Given the description of an element on the screen output the (x, y) to click on. 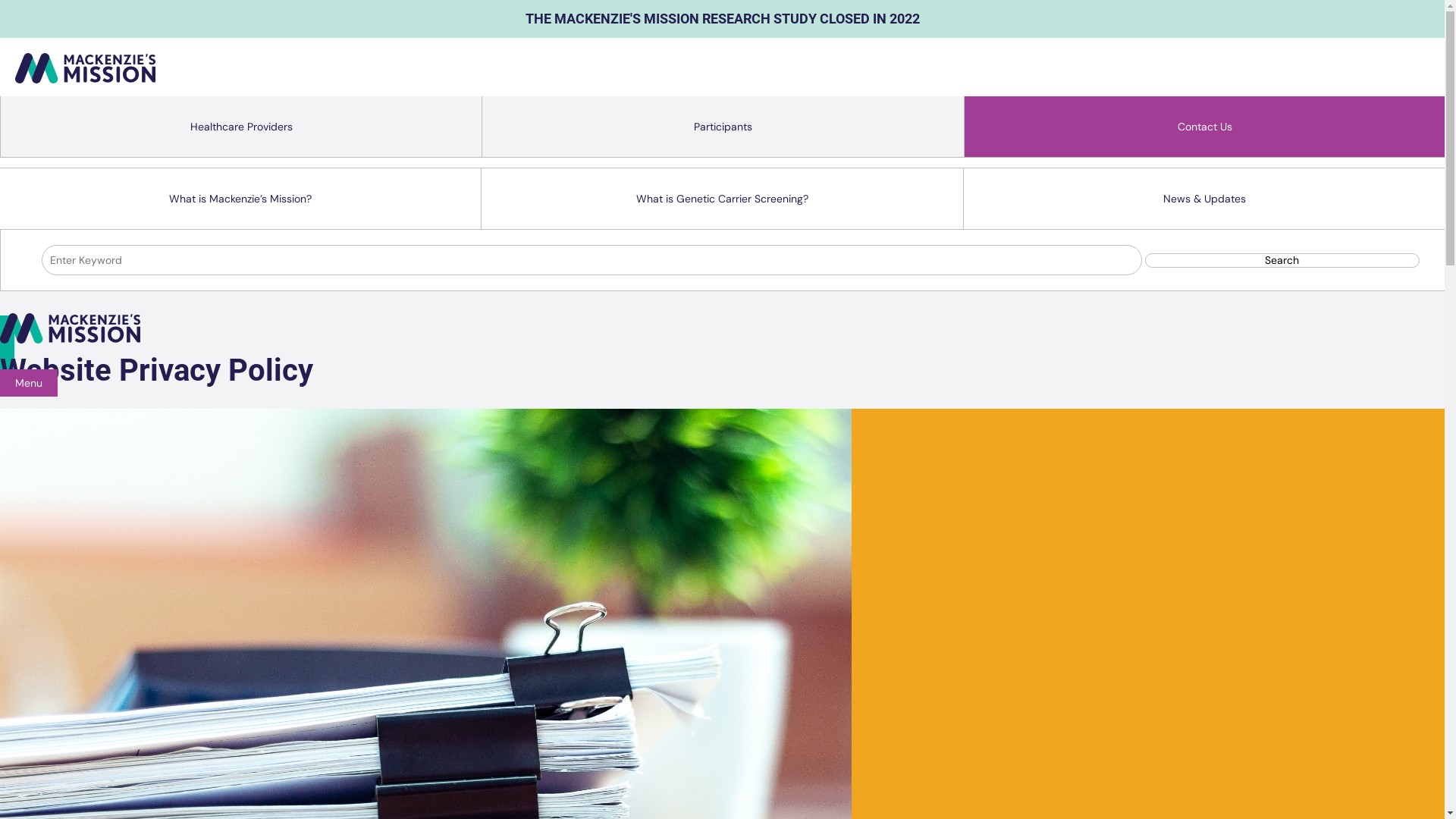
Search Element type: text (1282, 259)
News & Updates Element type: text (1204, 198)
Contact Us Element type: text (1204, 126)
Menu Element type: text (28, 382)
What is Genetic Carrier Screening? Element type: text (722, 198)
Healthcare Providers Element type: text (241, 126)
Participants Element type: text (722, 126)
